Given the description of an element on the screen output the (x, y) to click on. 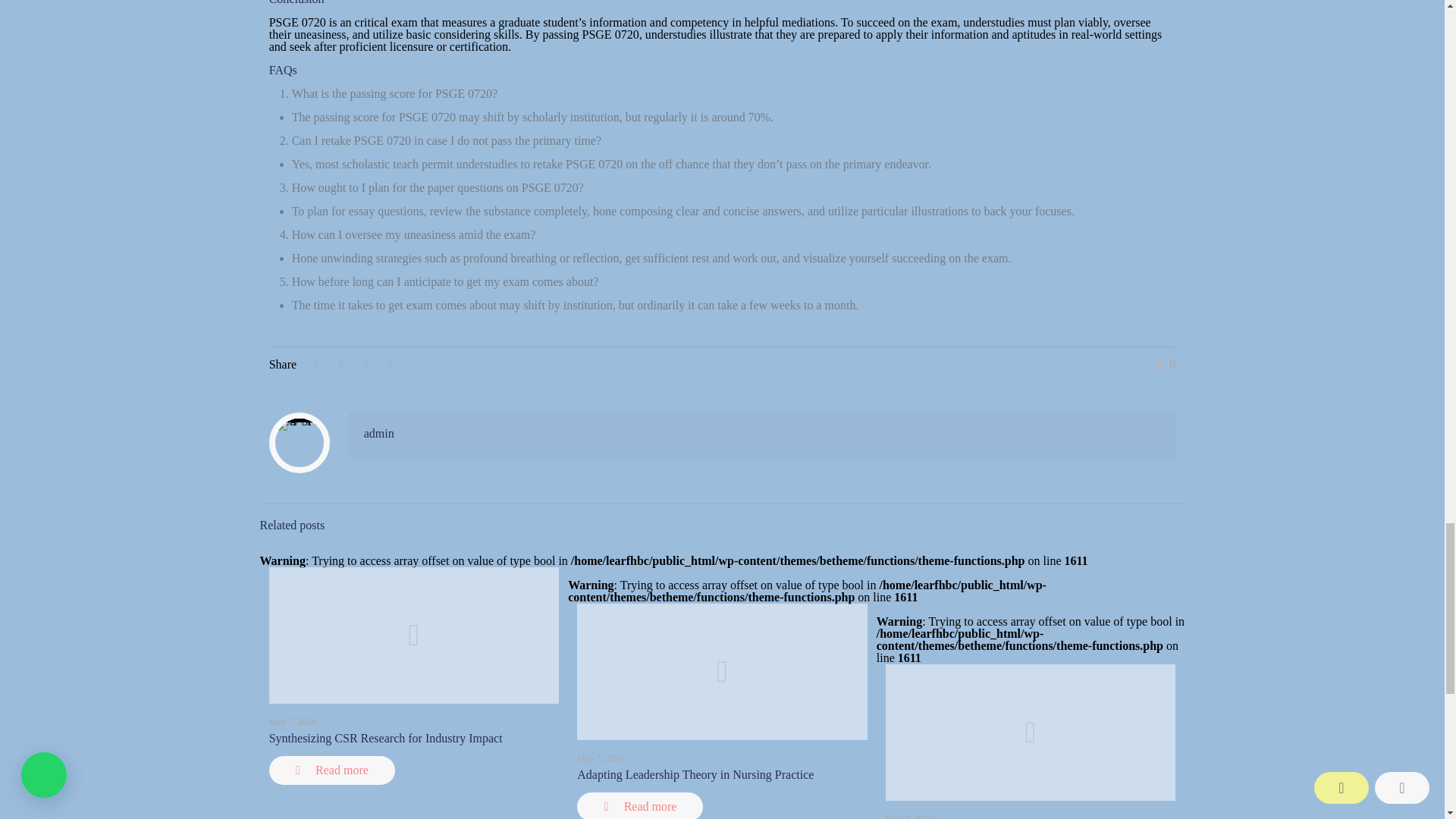
admin (379, 432)
Read more (331, 769)
Adapting Leadership Theory in Nursing Practice (694, 774)
Read more (639, 805)
Synthesizing CSR Research for Industry Impact (385, 738)
0 (1162, 364)
